Given the description of an element on the screen output the (x, y) to click on. 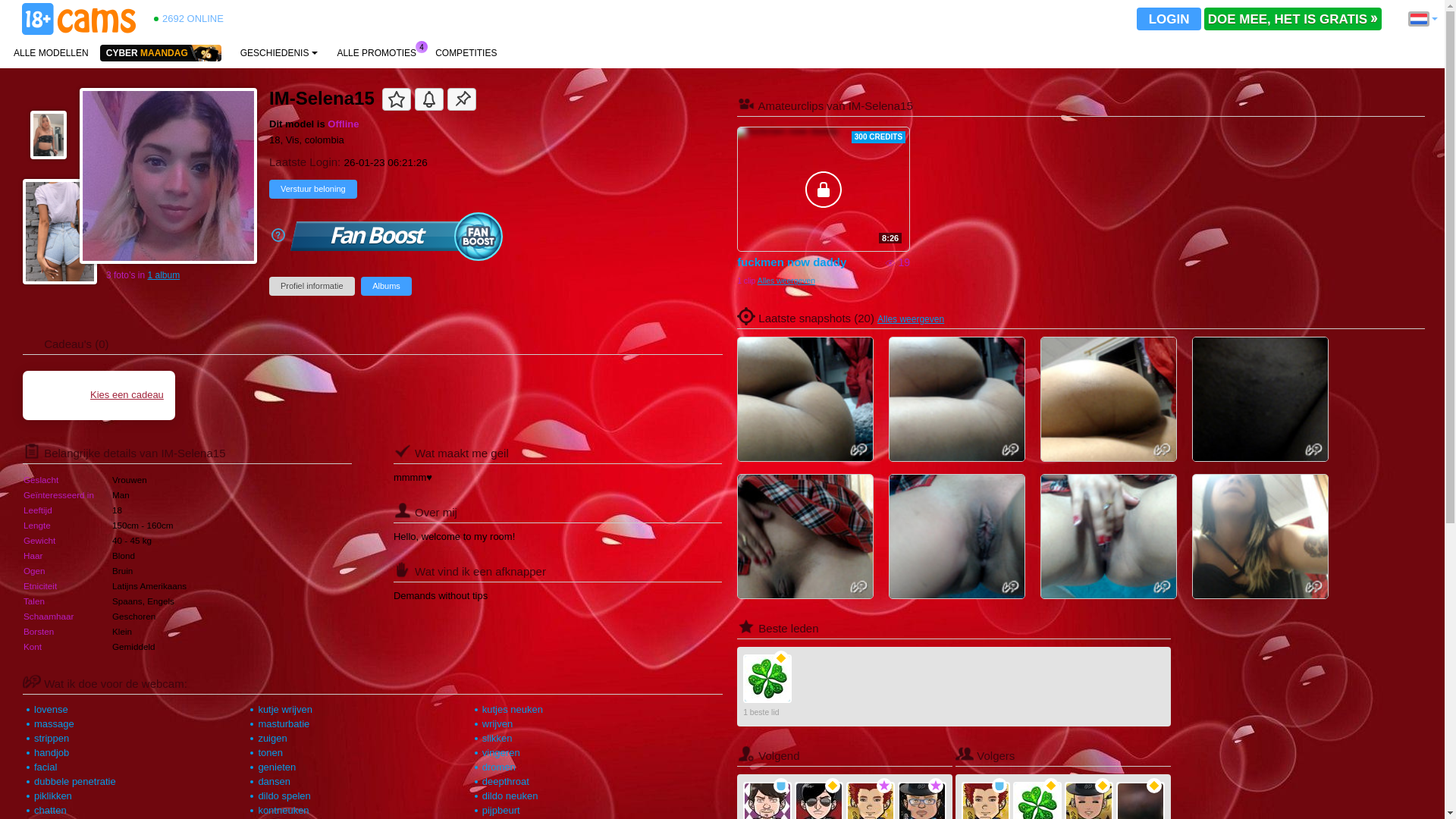
deepthroat Element type: text (505, 781)
strippen Element type: text (51, 737)
Gold Element type: hover (1153, 785)
piklikken Element type: text (53, 795)
zuigen Element type: text (271, 737)
kutjes neuken Element type: text (512, 709)
BeanLicker Element type: hover (767, 678)
genieten Element type: text (276, 766)
wrijven Element type: text (497, 723)
massage Element type: text (54, 723)
Unlimited Element type: hover (935, 785)
Kies een cadeau Element type: text (98, 394)
Fan Boost Element type: text (396, 236)
Profiel informatie Element type: text (311, 285)
LOGIN Element type: text (1168, 18)
Gold Element type: hover (1050, 785)
DOE MEE, HET IS GRATIS Element type: text (1292, 18)
CYBER MAANDAG Element type: text (160, 52)
tonen Element type: text (269, 752)
facial Element type: text (45, 766)
dildo spelen Element type: text (283, 795)
dansen Element type: text (273, 781)
masturbatie Element type: text (283, 723)
Unlimited Element type: hover (883, 785)
Platinum Element type: hover (999, 785)
dromen Element type: text (498, 766)
Alles weergeven Element type: text (910, 318)
Gold Element type: hover (1102, 785)
dildo neuken Element type: text (510, 795)
Verstuur beloning Element type: text (313, 188)
Platinum Element type: hover (780, 785)
vingeren Element type: text (501, 752)
pijpbeurt Element type: text (501, 809)
ALLE PROMOTIES Element type: text (376, 52)
lovense Element type: text (51, 709)
handjob Element type: text (51, 752)
ALLE MODELLEN Element type: text (51, 52)
Gold Element type: hover (832, 785)
Albums Element type: text (385, 285)
Gold Element type: hover (780, 657)
COMPETITIES Element type: text (465, 52)
dubbele penetratie Element type: text (75, 781)
kutje wrijven Element type: text (284, 709)
chatten Element type: text (50, 809)
kontneuken Element type: text (282, 809)
slikken Element type: text (497, 737)
